Given the description of an element on the screen output the (x, y) to click on. 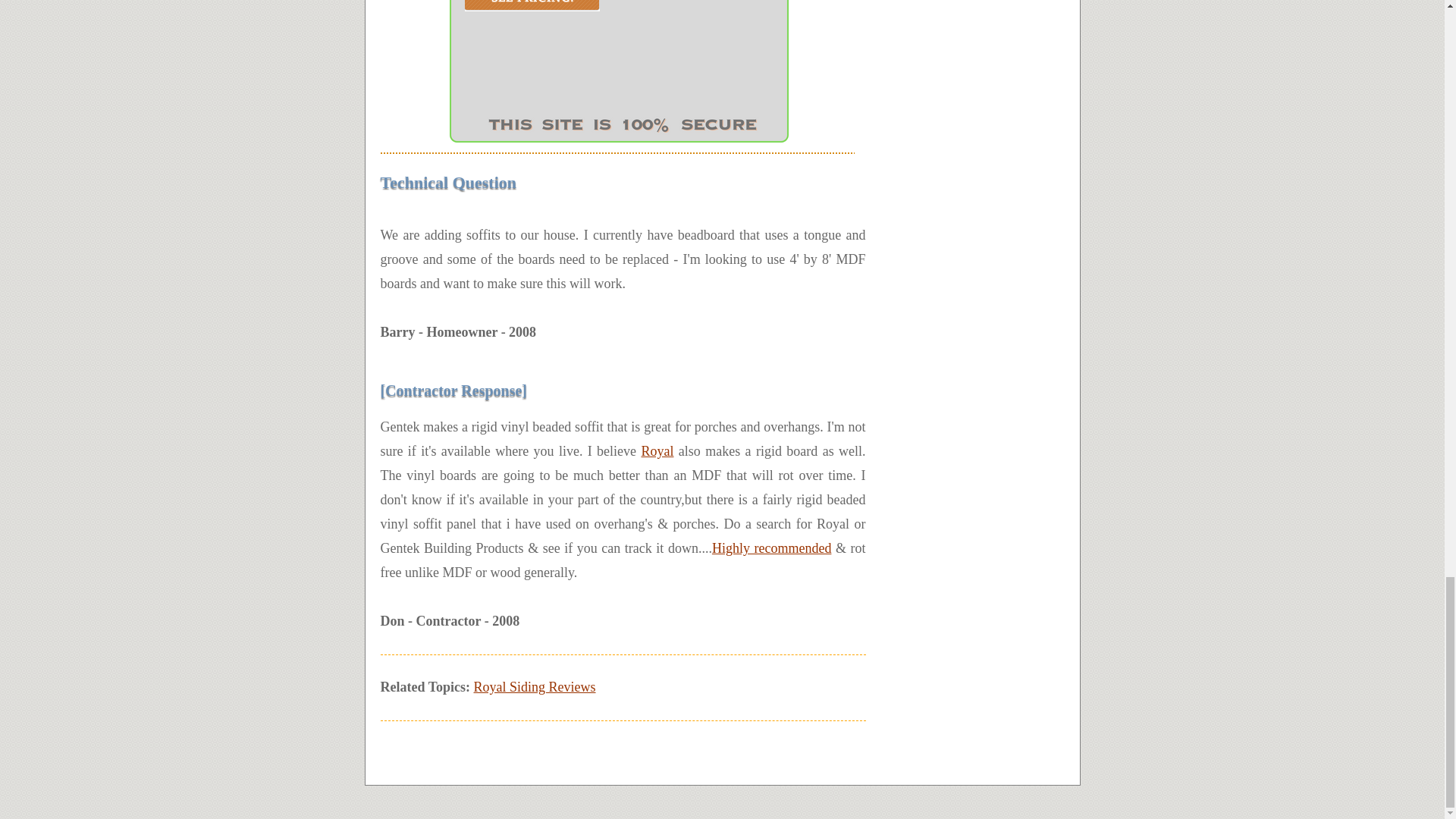
Highly recommended (771, 548)
Royal Siding Reviews (534, 686)
Royal (656, 450)
